Given the description of an element on the screen output the (x, y) to click on. 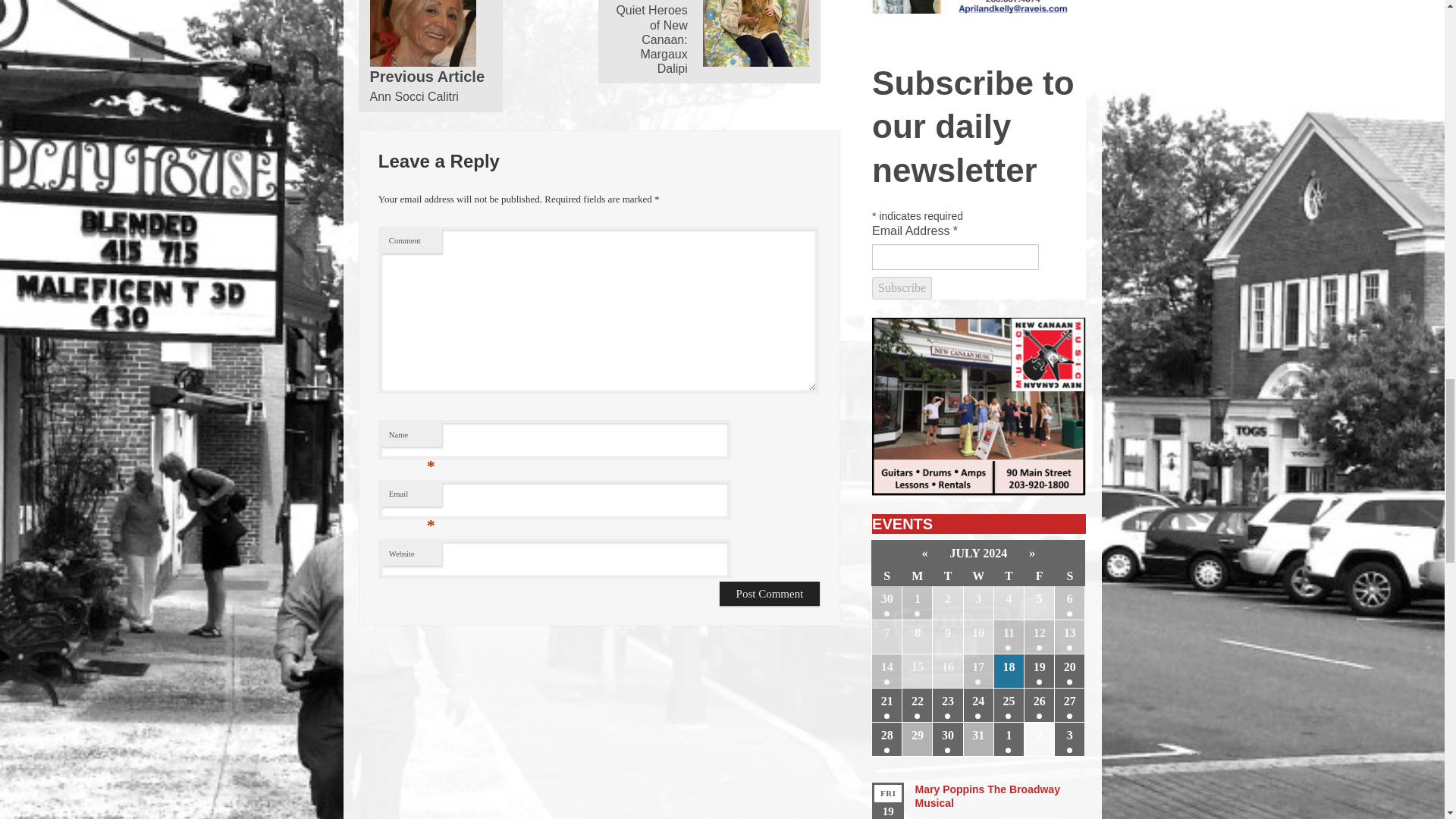
Subscribe (901, 287)
Post Comment (770, 593)
